Given the description of an element on the screen output the (x, y) to click on. 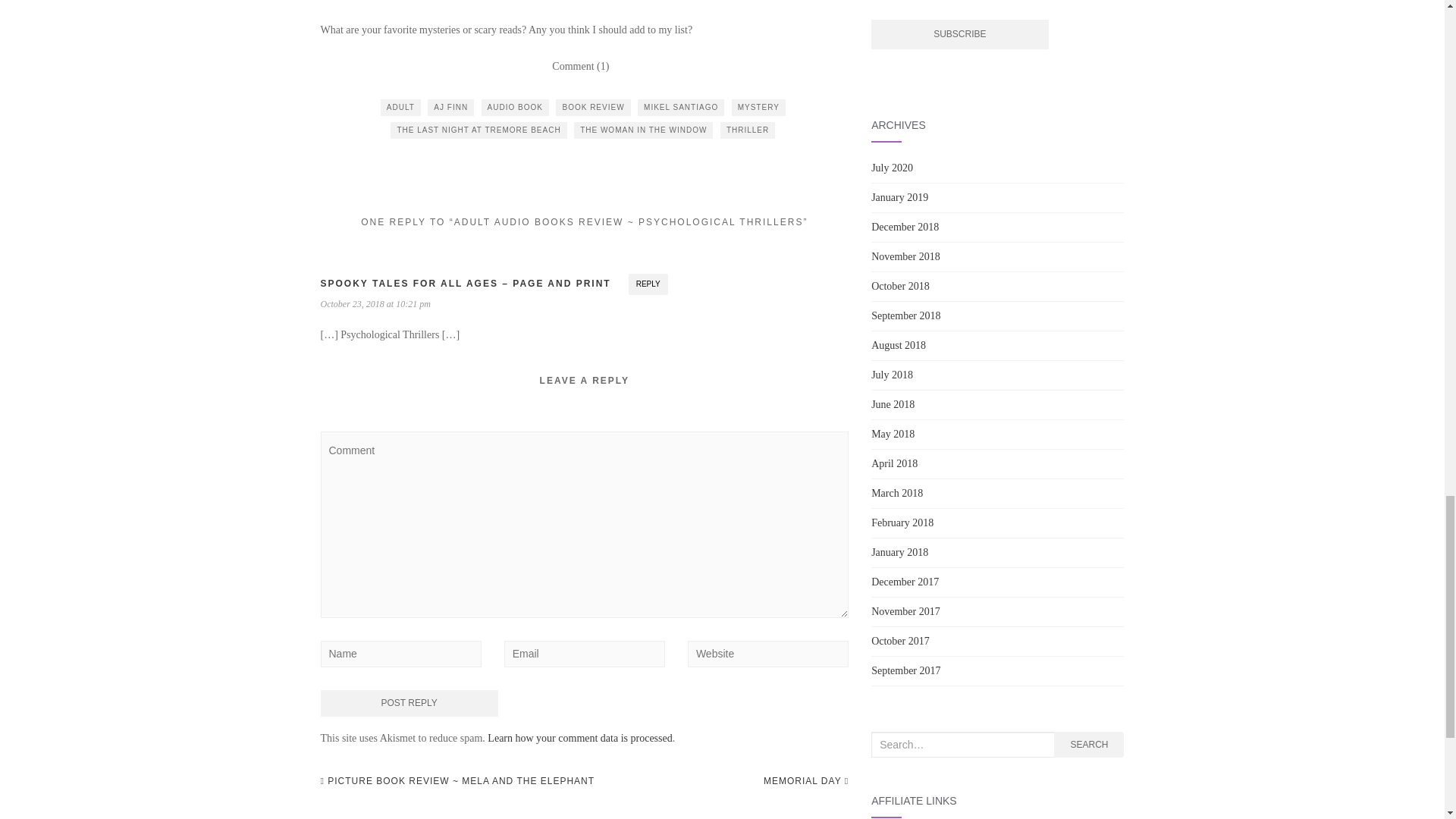
MIKEL SANTIAGO (680, 107)
THE WOMAN IN THE WINDOW (643, 130)
MYSTERY (759, 107)
Subscribe (959, 34)
THE LAST NIGHT AT TREMORE BEACH (478, 130)
Search for: (962, 744)
Post Reply (408, 703)
ADULT (400, 107)
Learn how your comment data is processed (579, 737)
MEMORIAL DAY (805, 781)
THRILLER (747, 130)
October 23, 2018 at 10:21 pm (374, 303)
REPLY (648, 283)
BOOK REVIEW (593, 107)
Post Reply (408, 703)
